Given the description of an element on the screen output the (x, y) to click on. 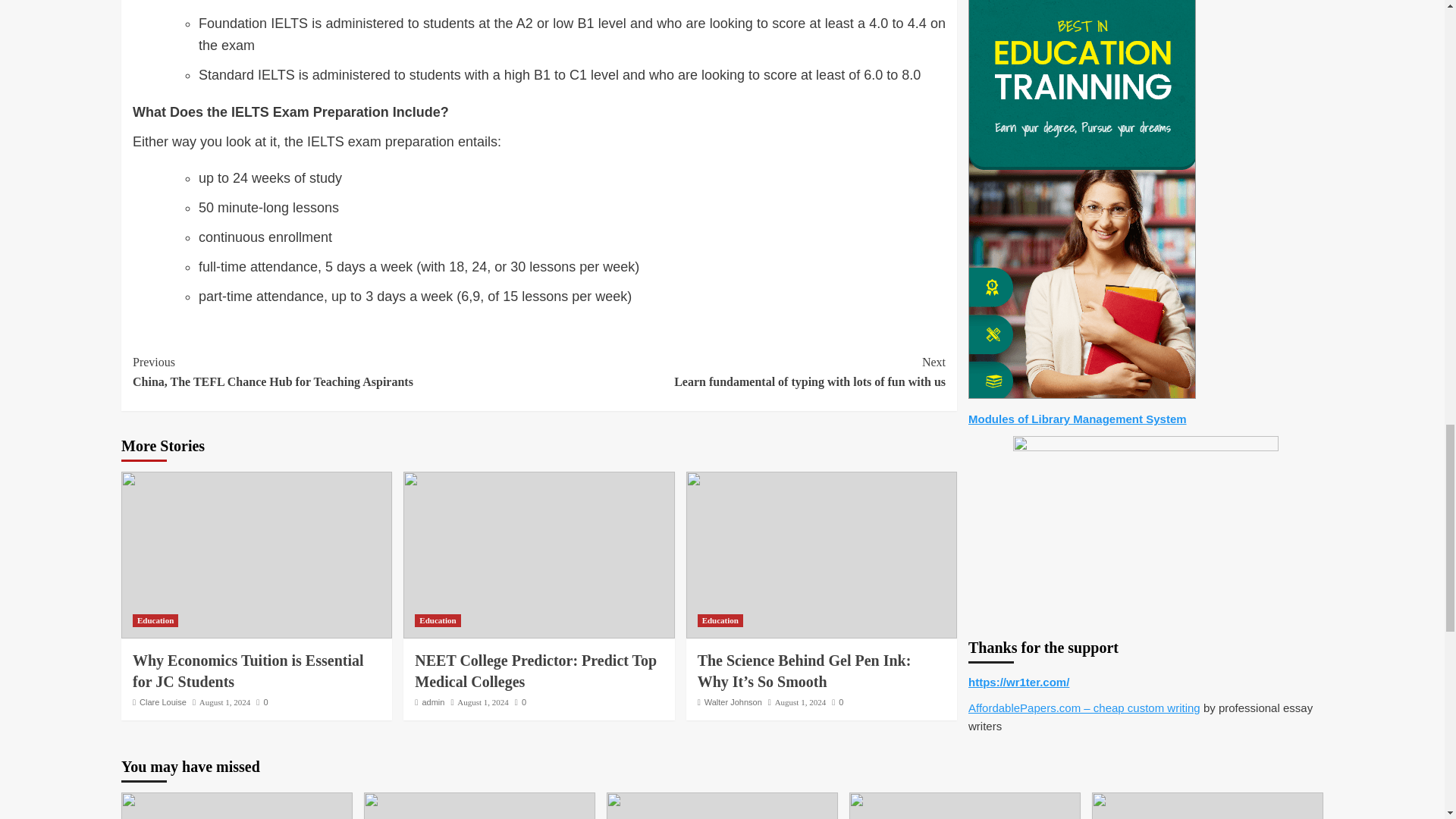
0 (837, 701)
August 1, 2024 (800, 701)
August 1, 2024 (224, 701)
Clare Louise (162, 701)
0 (335, 371)
Education (520, 701)
NEET College Predictor: Predict Top Medical Colleges (437, 620)
Education (535, 670)
Education (154, 620)
August 1, 2024 (719, 620)
admin (482, 701)
0 (433, 701)
Why Economics Tuition is Essential for JC Students (261, 701)
